Given the description of an element on the screen output the (x, y) to click on. 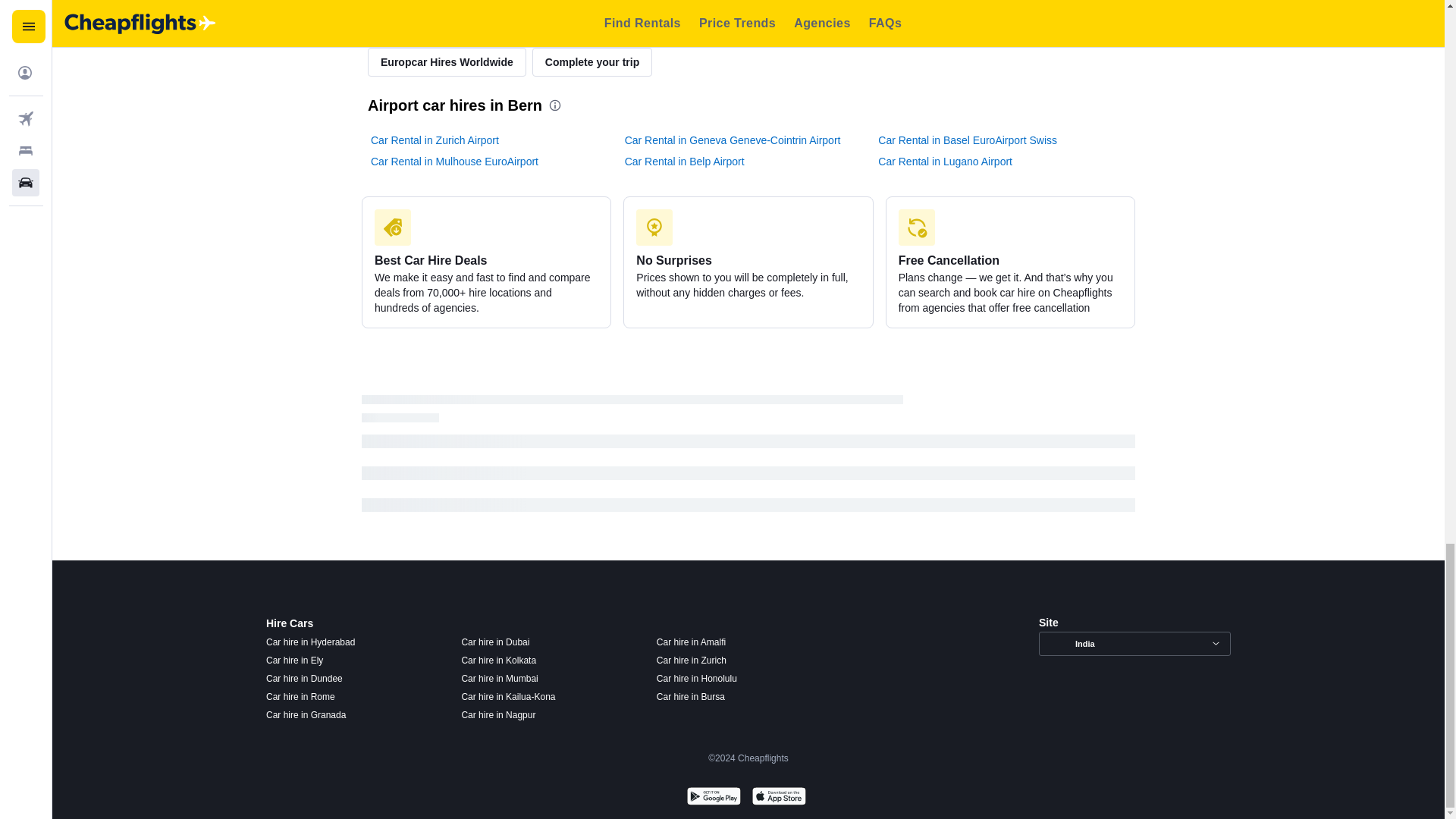
Europcar Hires Worldwide (446, 61)
Download on the App Store (778, 797)
Hire Cars in Neighbourhoods (588, 27)
Car Hires in Cities (905, 27)
Car Rental in Zurich Airport (435, 140)
Complete your trip (592, 61)
Car Hires at Airports (432, 27)
Car Rental in Basel EuroAirport Swiss (967, 140)
Get it on Google Play (713, 797)
Car Rental in Mulhouse EuroAirport (454, 160)
